Given the description of an element on the screen output the (x, y) to click on. 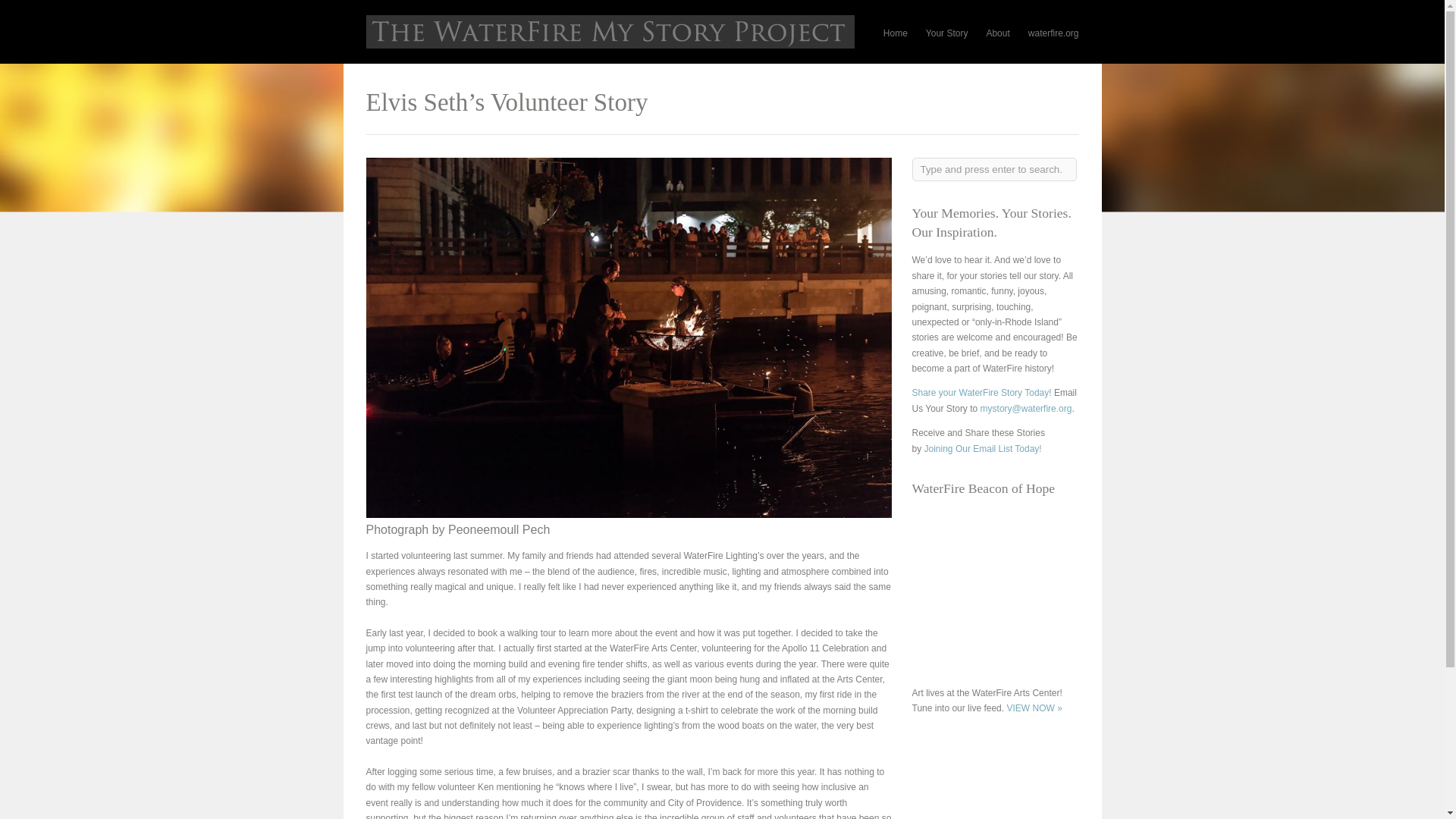
About (997, 33)
Joining Our Email List Today! (983, 448)
Type and press enter to search. (993, 169)
Your Story (947, 33)
Home (895, 33)
waterfire.org (1052, 33)
Share your WaterFire Story Today! (981, 392)
